Given the description of an element on the screen output the (x, y) to click on. 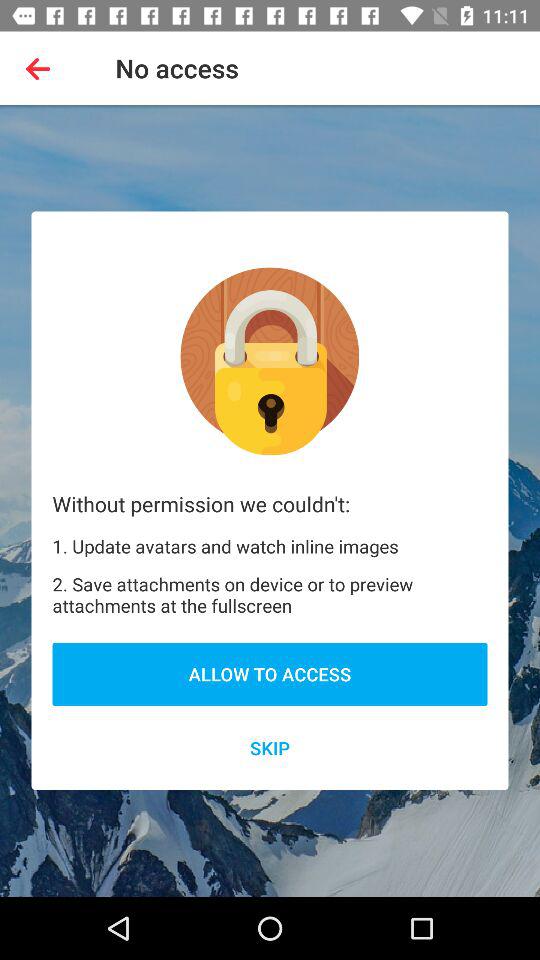
launch icon below the 2 save attachments item (269, 673)
